Given the description of an element on the screen output the (x, y) to click on. 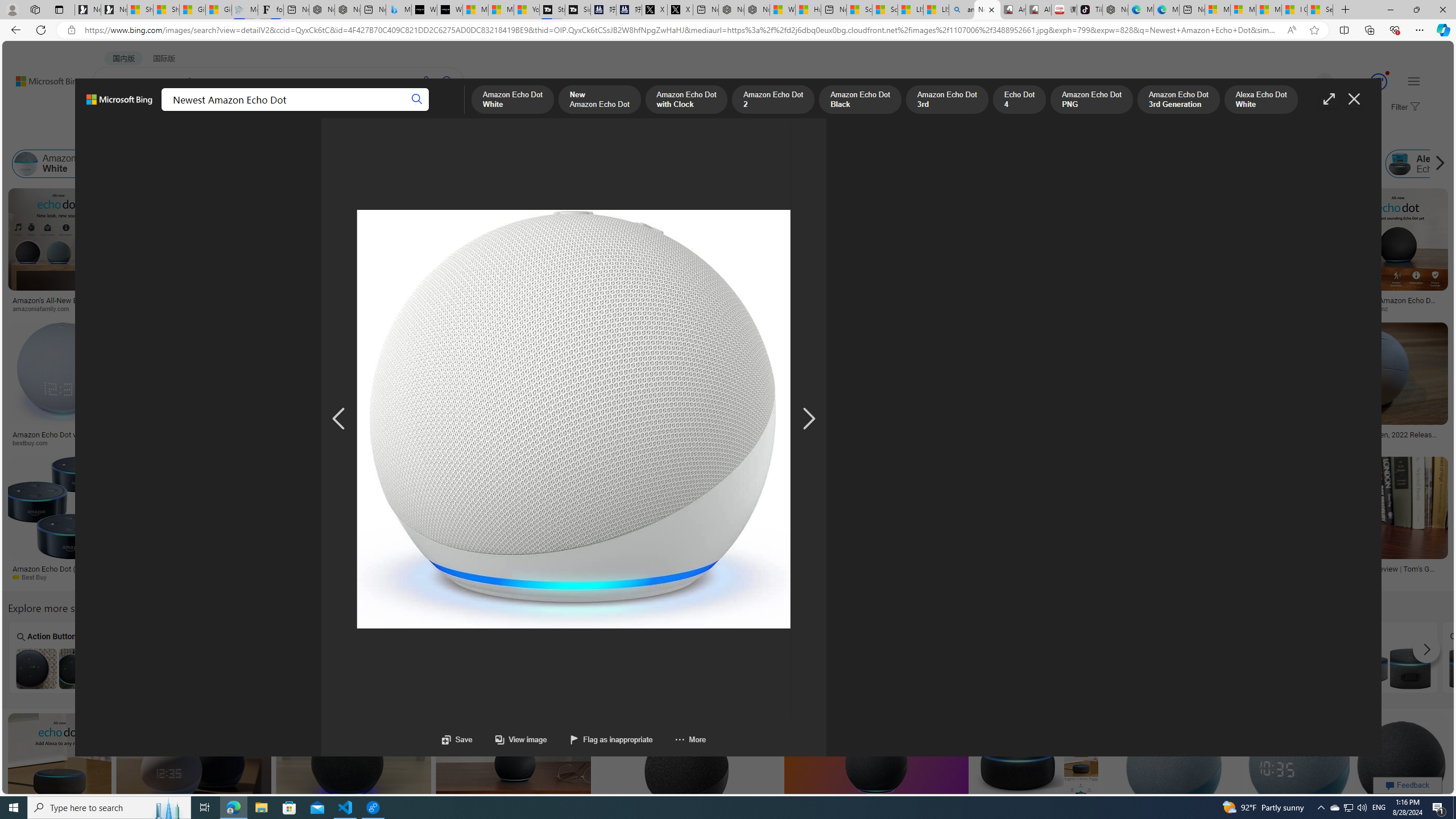
laptrinhx.com (483, 576)
View image (509, 739)
Type (212, 135)
Echo Dot with Clock (689, 261)
Alexa Echo Dot White (1074, 163)
